Given the description of an element on the screen output the (x, y) to click on. 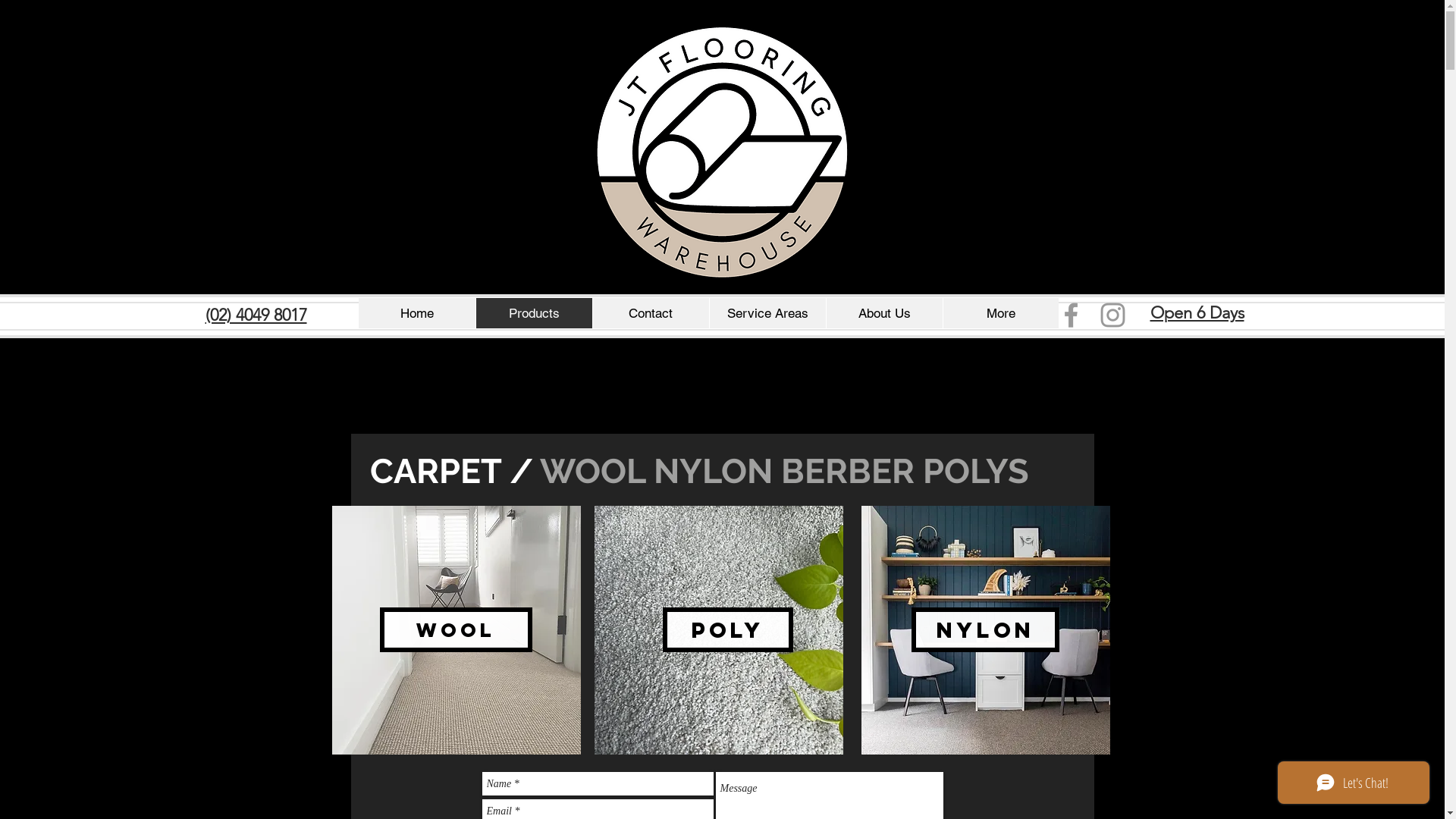
Contact Element type: text (649, 313)
Service Areas Element type: text (766, 313)
NYLON Element type: text (985, 629)
WOOL Element type: text (455, 629)
Products Element type: text (532, 313)
(02) 4049 8017 Element type: text (255, 314)
Home Element type: text (415, 313)
About Us Element type: text (883, 313)
Open 6 Days Element type: text (1196, 312)
POLY Element type: text (727, 629)
